Given the description of an element on the screen output the (x, y) to click on. 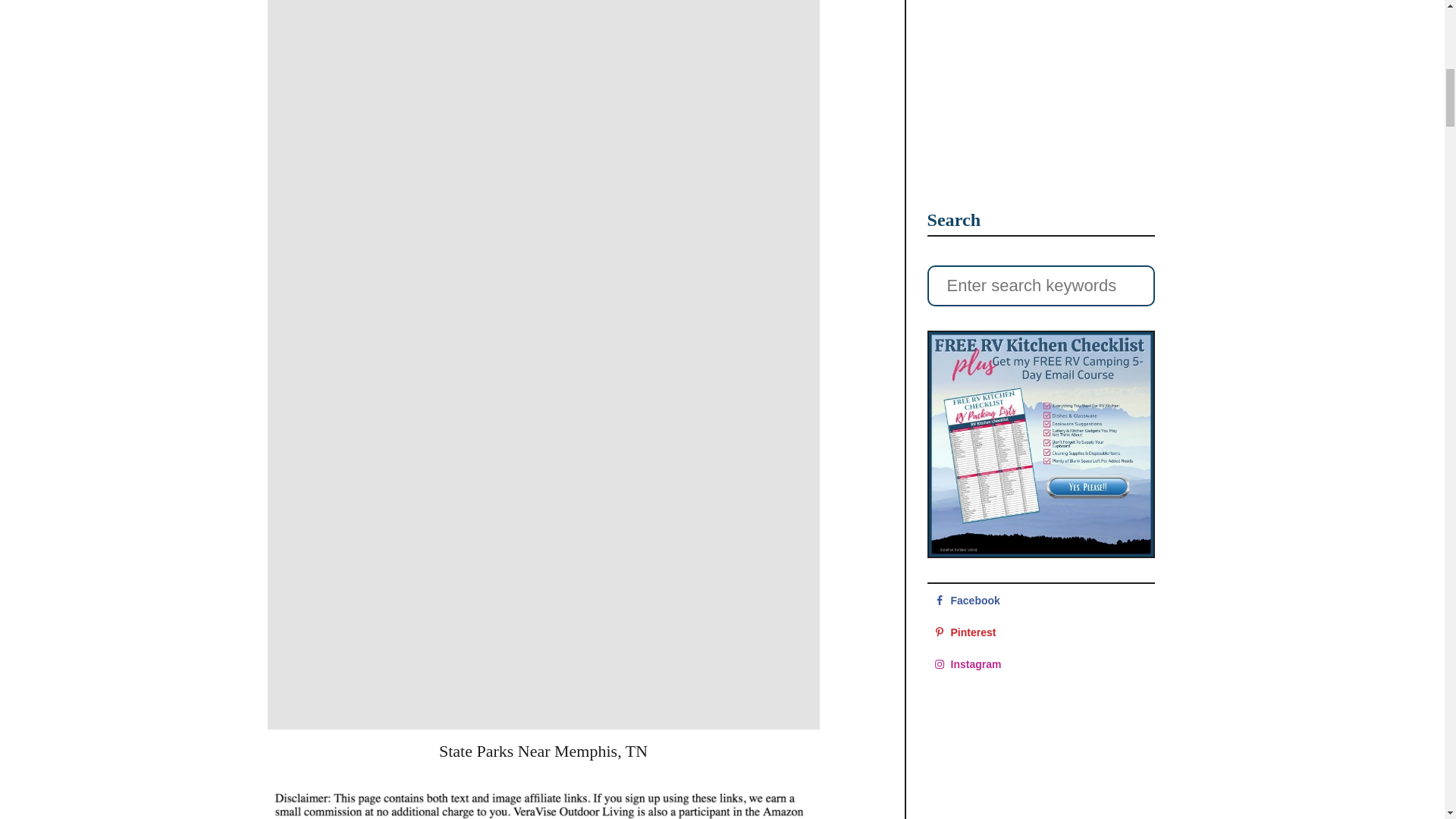
Follow on Facebook (1040, 600)
Follow on Pinterest (1040, 631)
Search for: (1040, 285)
Follow on Instagram (1040, 663)
